Given the description of an element on the screen output the (x, y) to click on. 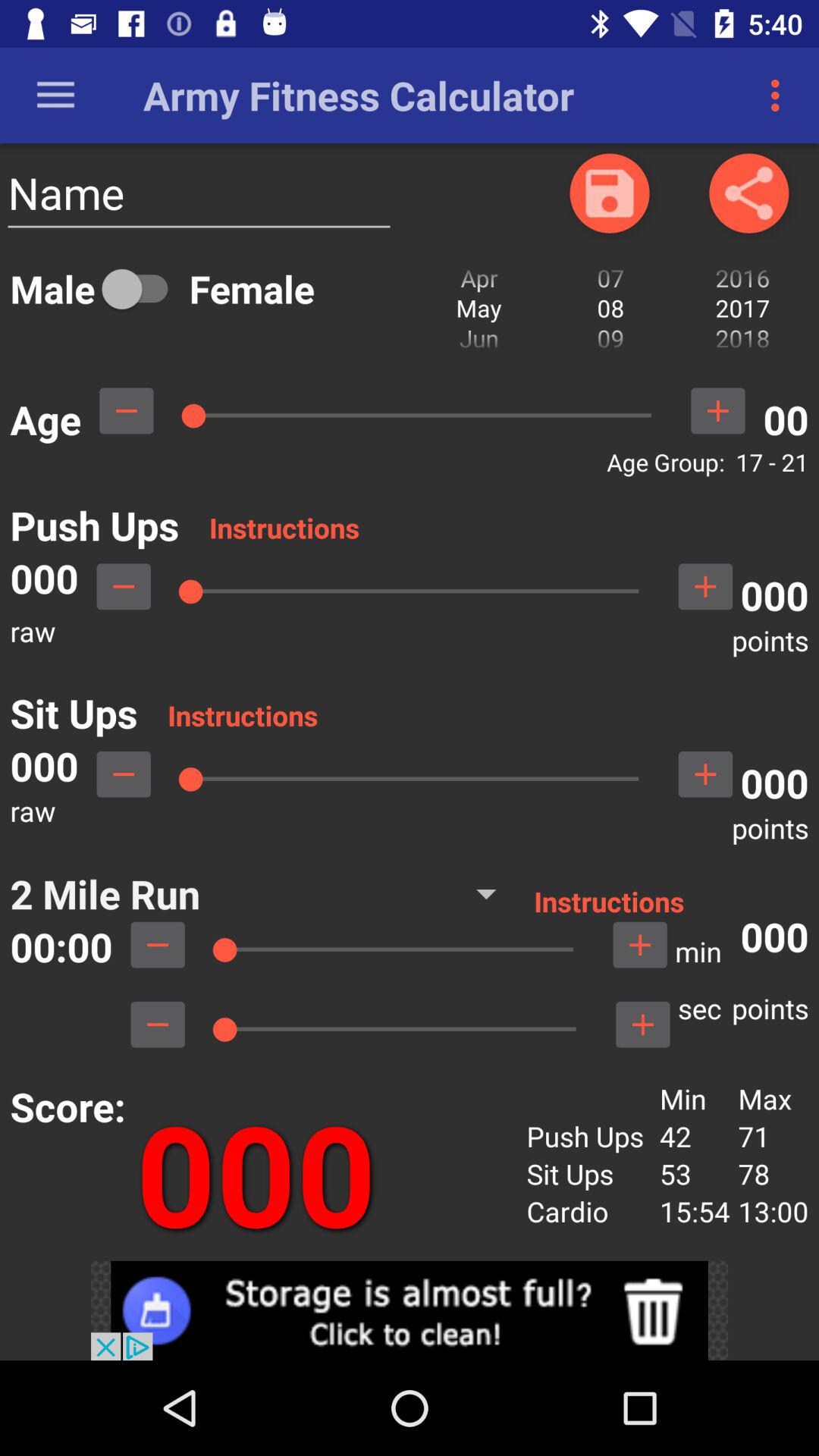
increase min (640, 944)
